Given the description of an element on the screen output the (x, y) to click on. 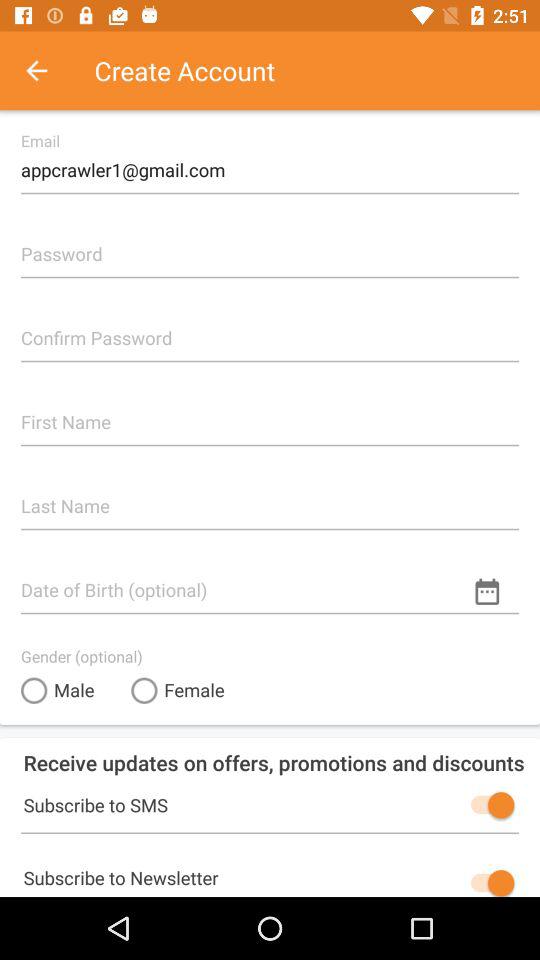
type your last name (270, 497)
